Given the description of an element on the screen output the (x, y) to click on. 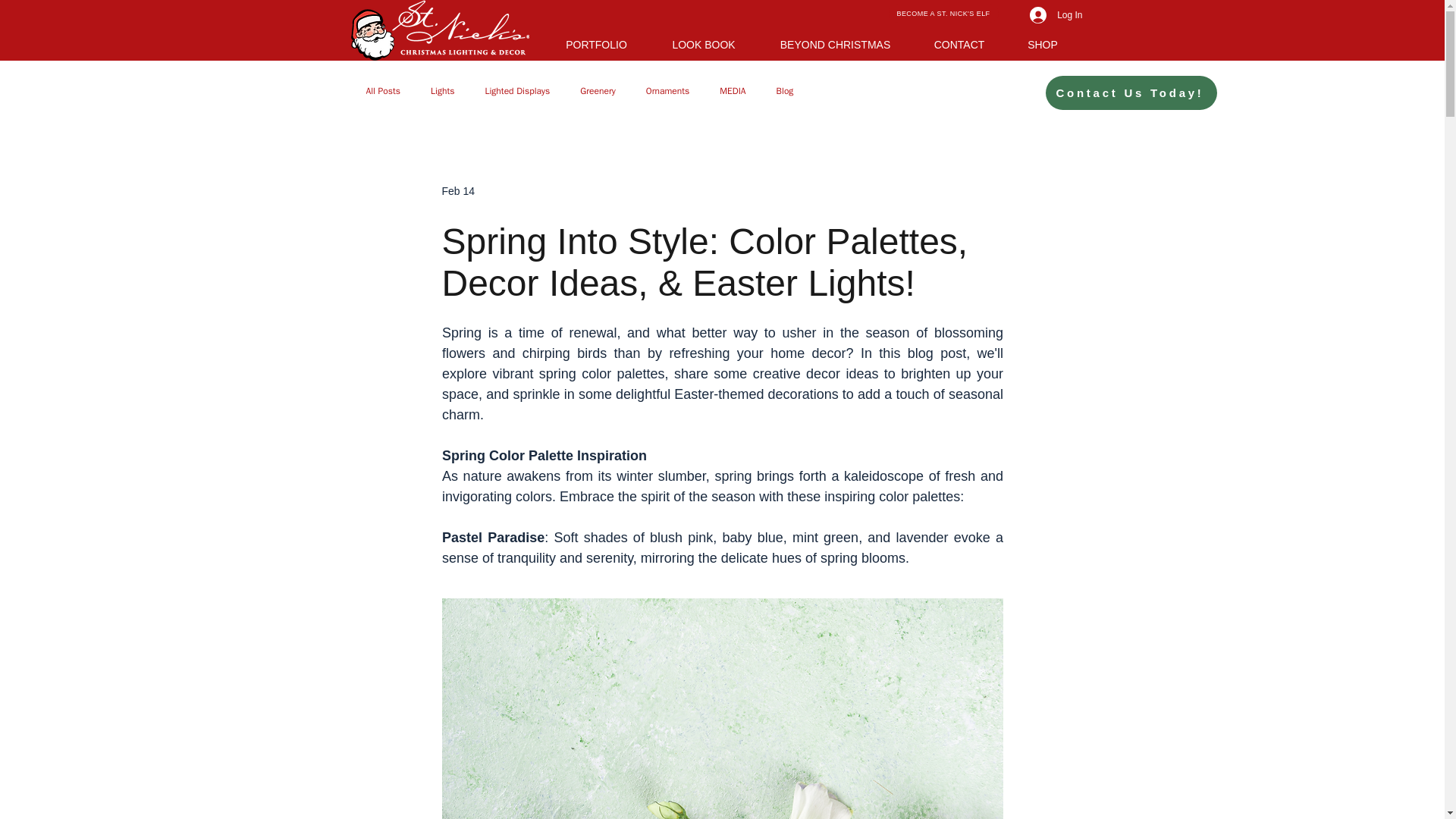
Go Home (439, 30)
PORTFOLIO (596, 43)
Lights (442, 91)
BEYOND CHRISTMAS (834, 43)
Contact Us Today! (1131, 92)
SHOP (1042, 43)
BECOME A ST. NICK'S ELF (943, 13)
LOOK BOOK (703, 43)
Greenery (597, 91)
Ornaments (668, 91)
